Given the description of an element on the screen output the (x, y) to click on. 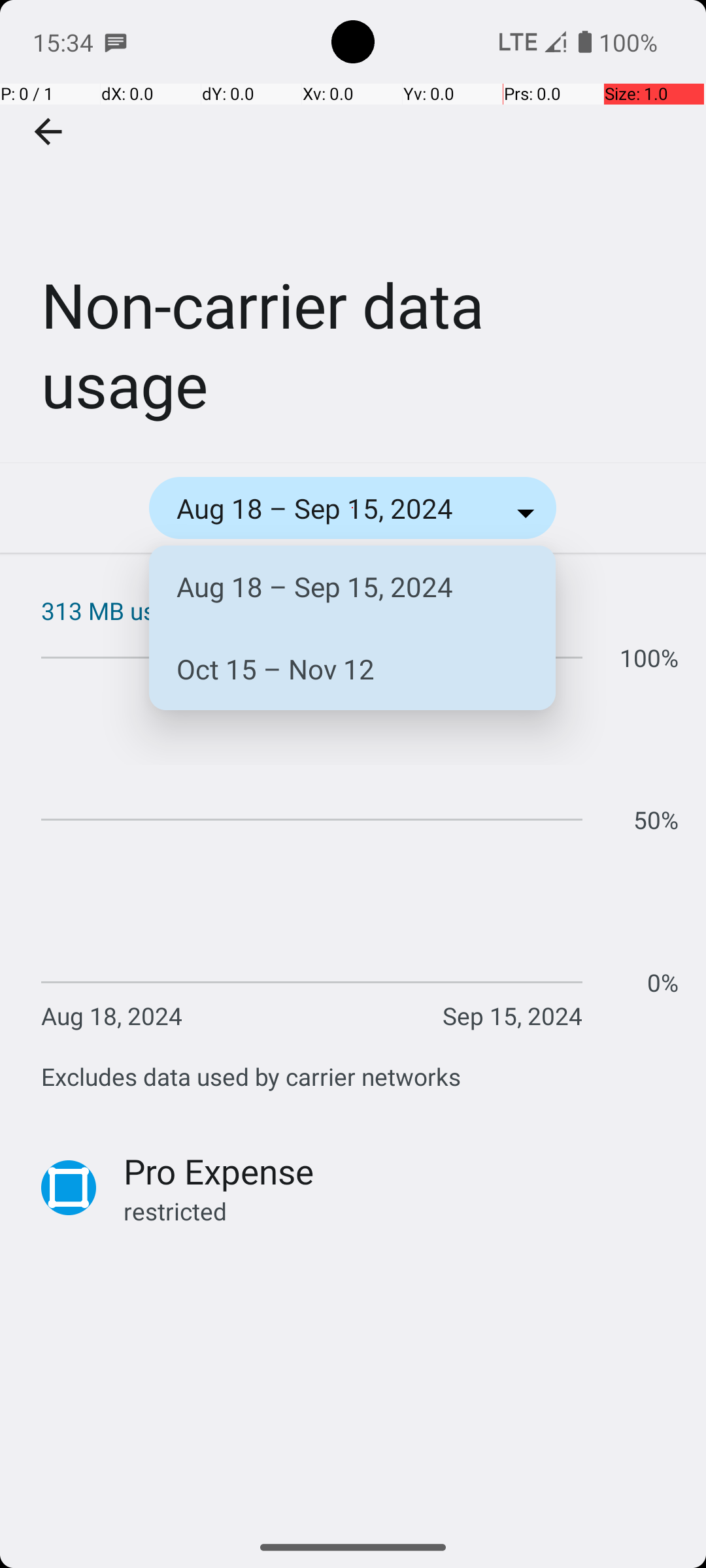
Aug 18 – Sep 15, 2024 Element type: android.widget.TextView (342, 586)
Oct 15 – Nov 12 Element type: android.widget.TextView (342, 668)
